Given the description of an element on the screen output the (x, y) to click on. 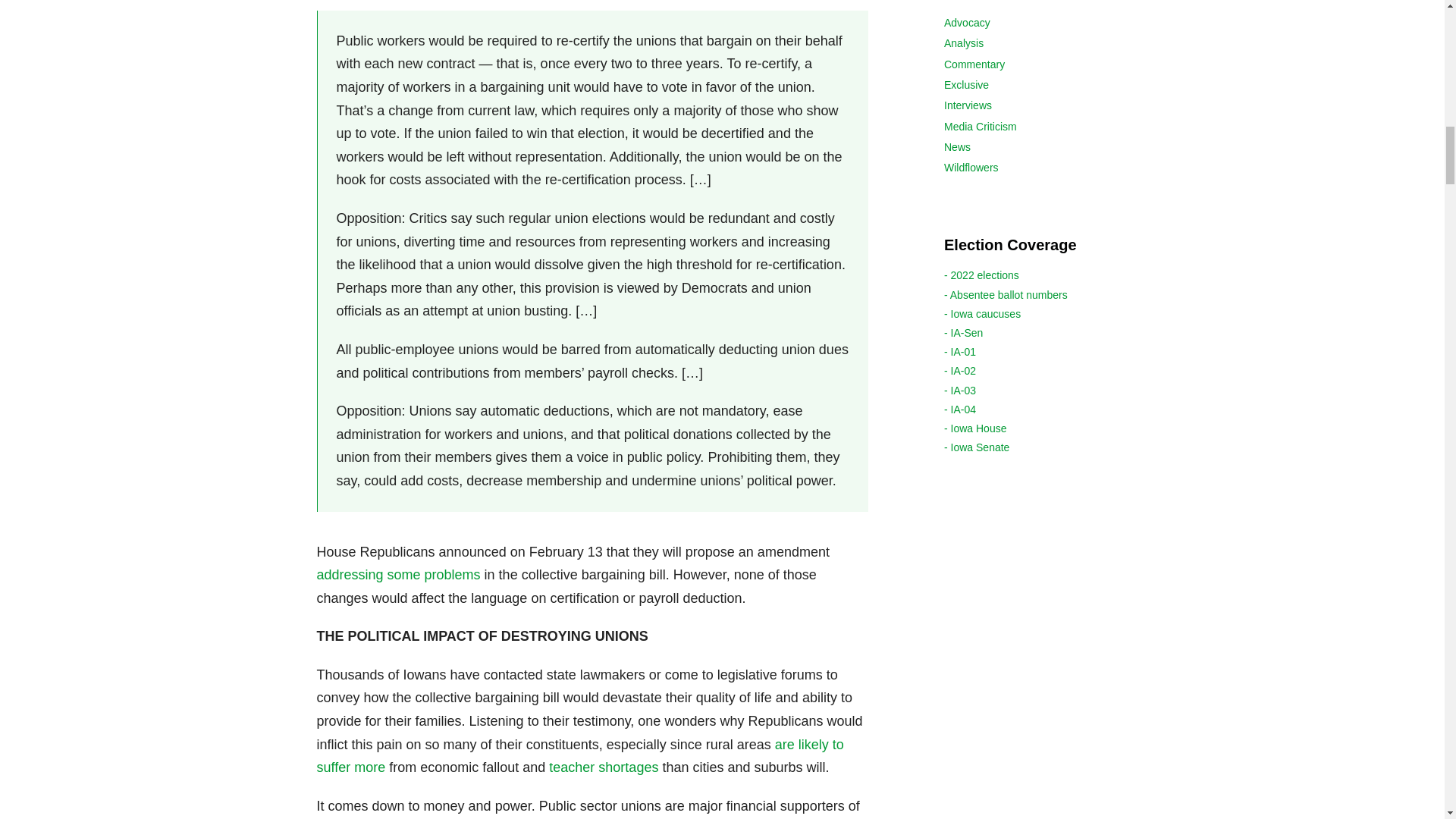
teacher shortages (601, 767)
are likely to suffer more (580, 756)
addressing some problems (398, 574)
